Given the description of an element on the screen output the (x, y) to click on. 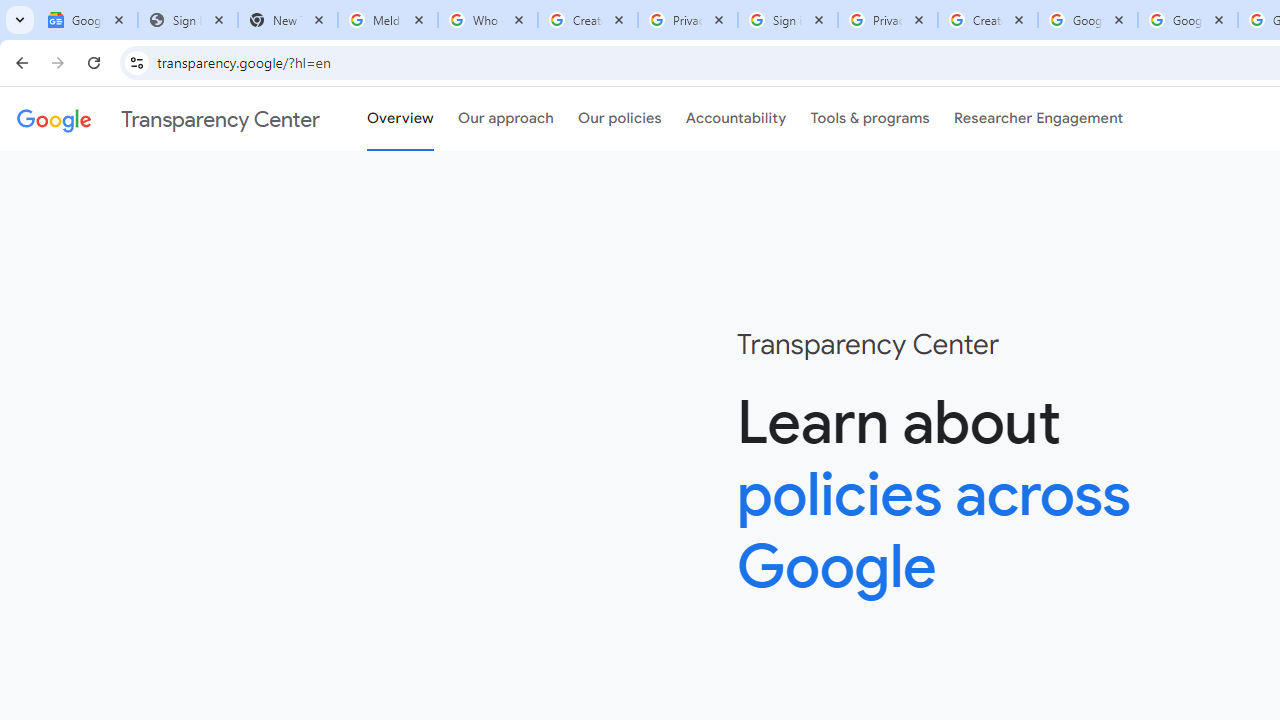
Accountability (735, 119)
Google News (87, 20)
Tools & programs (869, 119)
Our approach (506, 119)
Create your Google Account (988, 20)
Who is my administrator? - Google Account Help (487, 20)
